Given the description of an element on the screen output the (x, y) to click on. 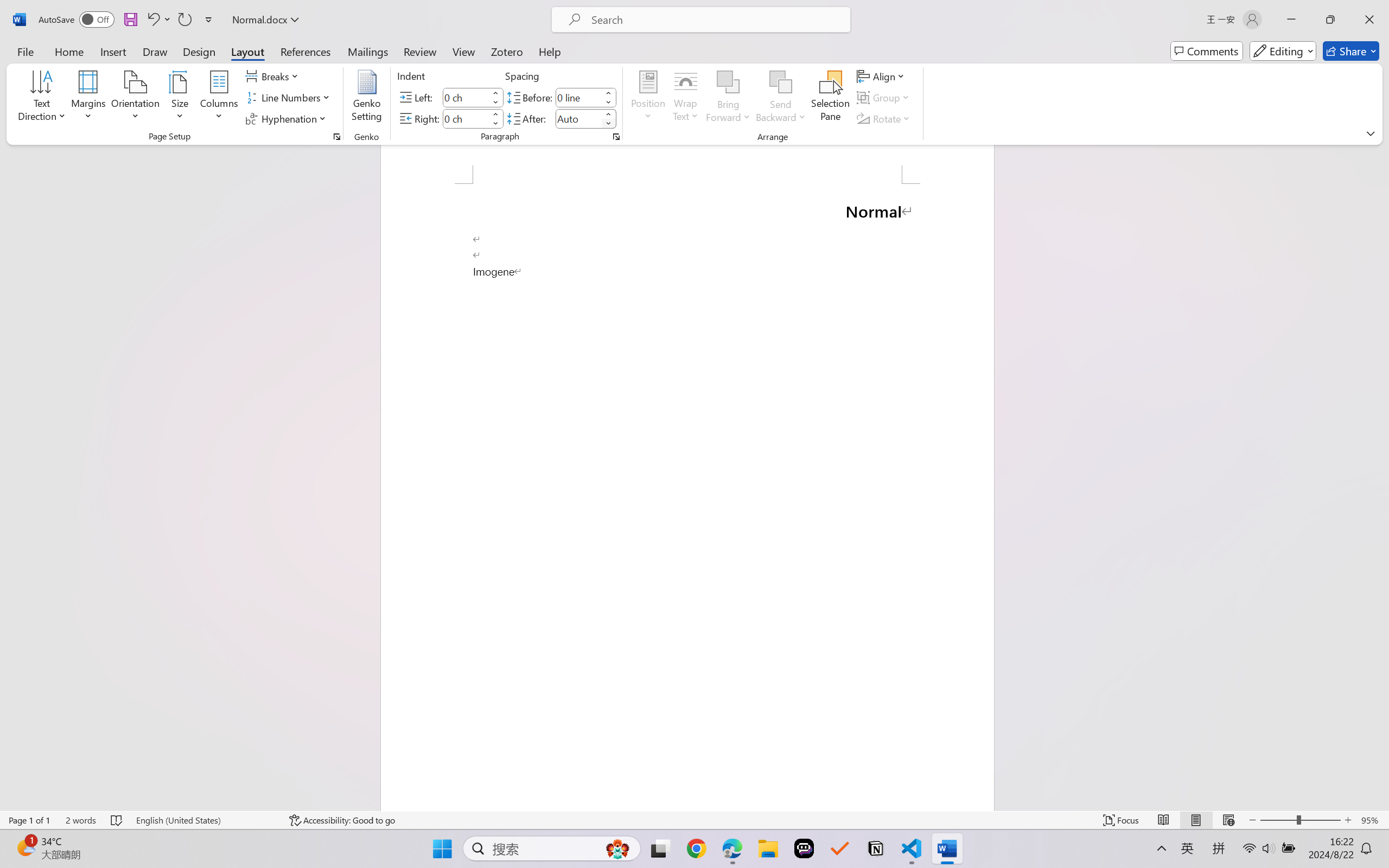
Rotate (884, 118)
Indent Left (465, 96)
